Given the description of an element on the screen output the (x, y) to click on. 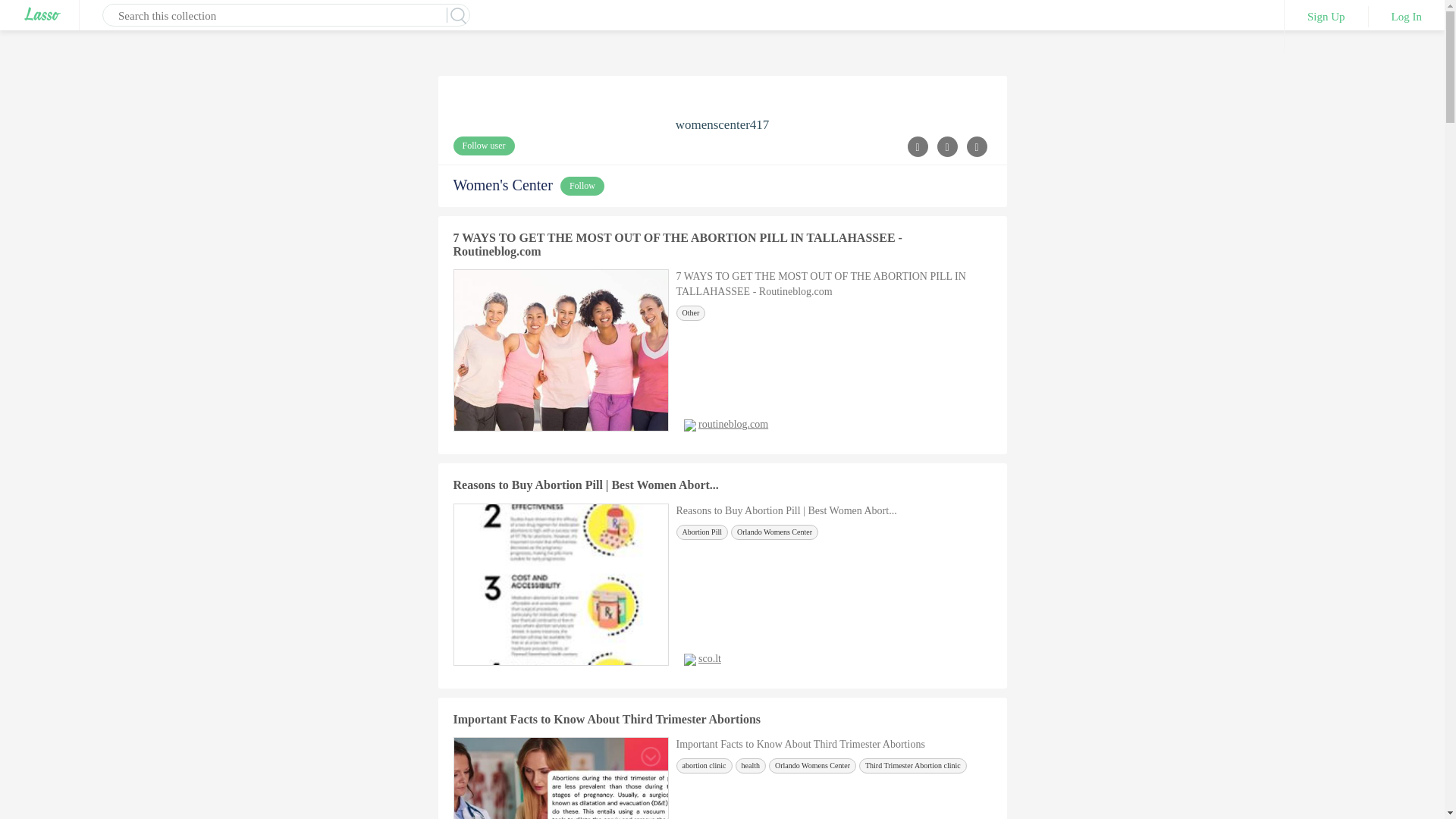
Orlando Womens Center (774, 531)
abortion clinic (704, 765)
Third Trimester Abortion clinic (912, 765)
Click to follow (582, 185)
Sign Up (1326, 16)
Other (691, 313)
Important Facts to Know About Third Trimester Abortions (606, 718)
health (750, 765)
Orlando Womens Center (812, 765)
routineblog.com (733, 423)
Click to follow (483, 145)
Follow user (483, 145)
Follow (582, 185)
sco.lt (709, 658)
